Given the description of an element on the screen output the (x, y) to click on. 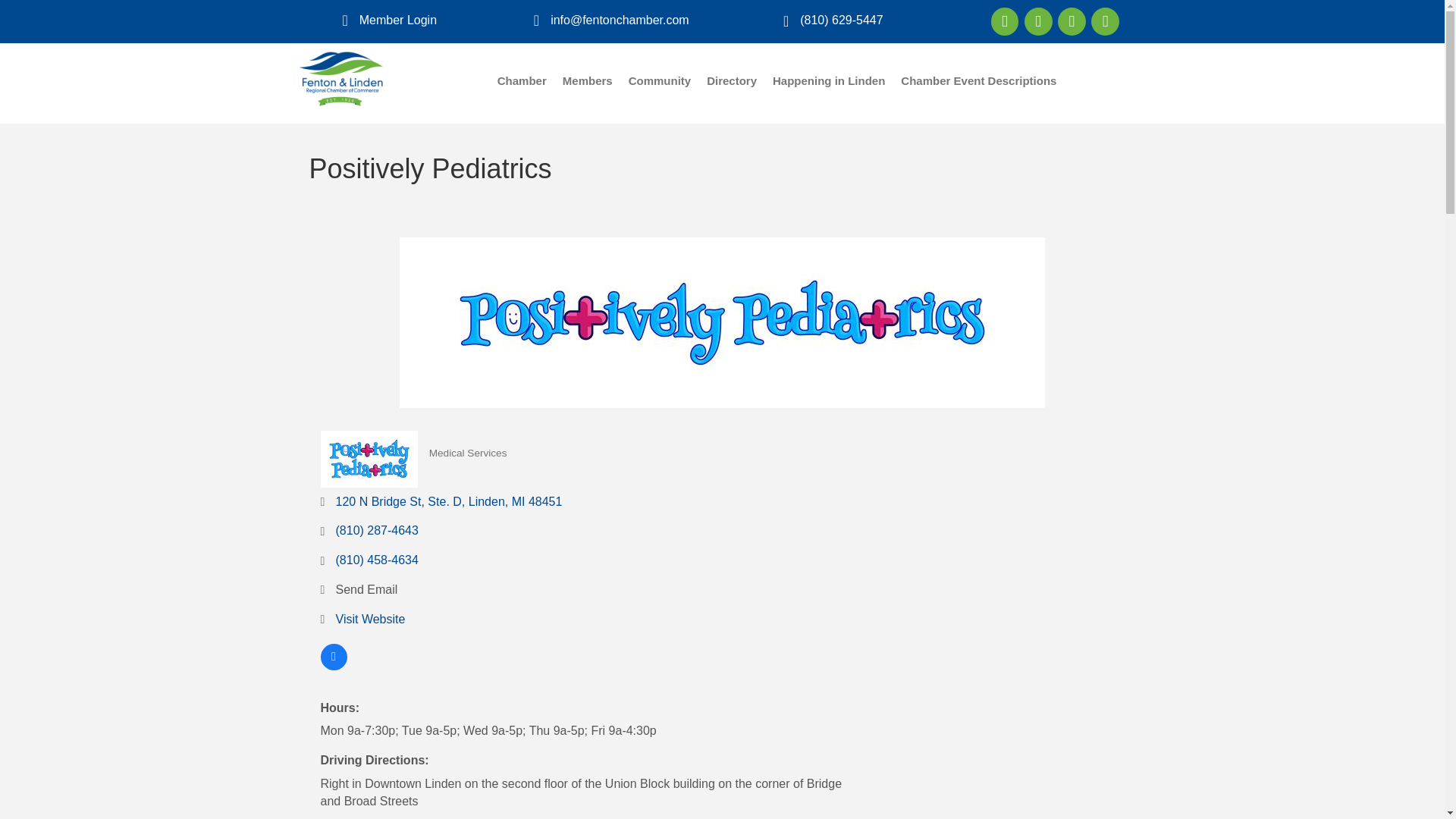
Positively Pediatrics (721, 322)
Chamber Event Descriptions (978, 80)
Members (587, 80)
View on Facebook (333, 666)
Community (659, 80)
Positively Pediatrics (368, 458)
Happening in Linden (828, 80)
Directory (731, 80)
2022-logo-Final (341, 80)
Member Login (397, 20)
Chamber (521, 80)
